Given the description of an element on the screen output the (x, y) to click on. 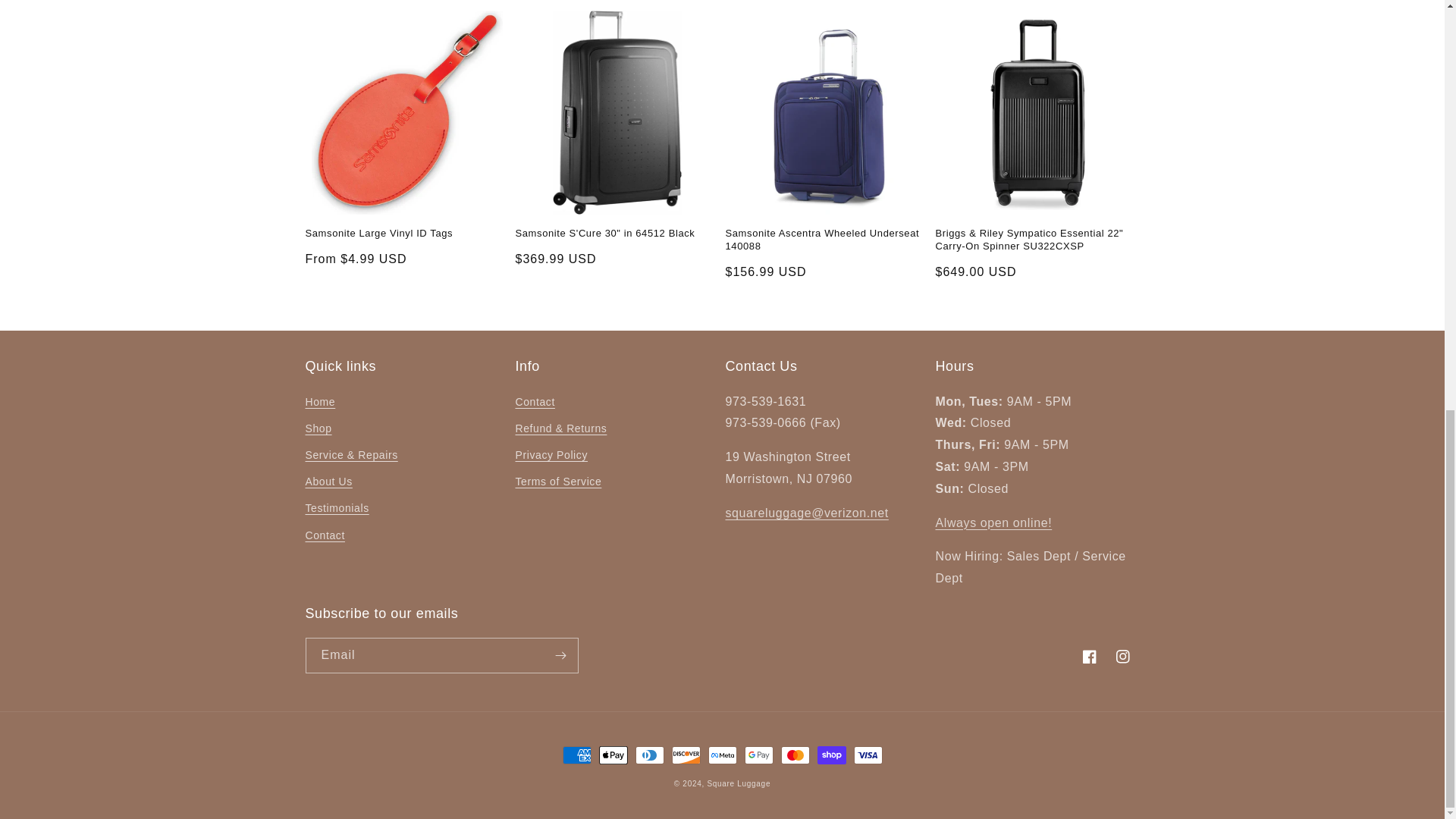
All products (994, 522)
Samsonite Large Vinyl ID Tags (406, 233)
Samsonite S'Cure 30" in 64512 Black (617, 233)
